Given the description of an element on the screen output the (x, y) to click on. 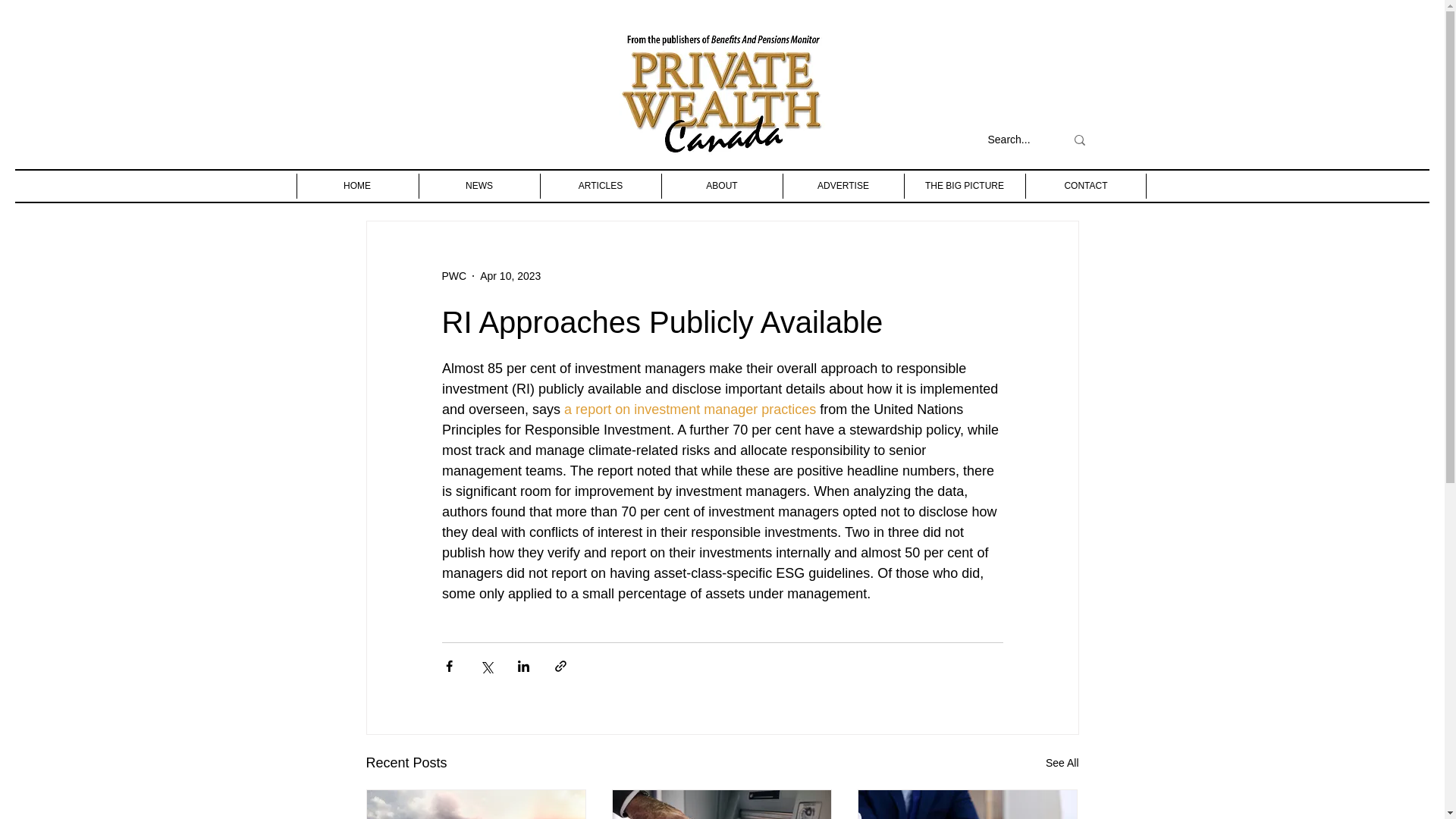
ABOUT (721, 186)
CONTACT (1085, 186)
a report on investment manager practices (689, 409)
ADVERTISE (842, 186)
HOME (356, 186)
PWC (453, 276)
NEWS (478, 186)
Apr 10, 2023 (510, 275)
See All (1061, 762)
ARTICLES (600, 186)
THE BIG PICTURE (964, 186)
